Given the description of an element on the screen output the (x, y) to click on. 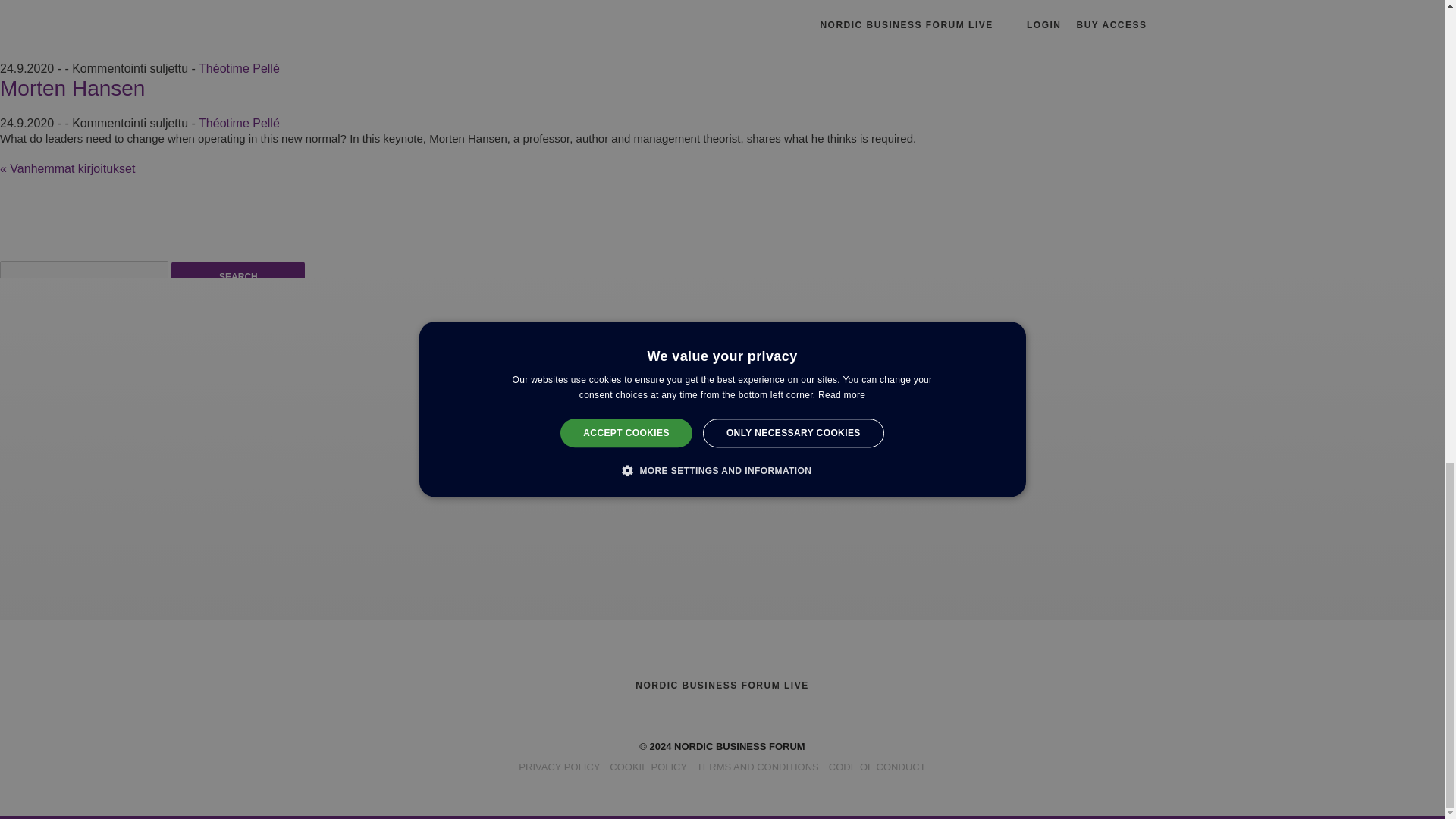
Search (237, 277)
Entries feed (32, 584)
WordPress.org (40, 612)
Video Library (574, 393)
Video Library (524, 379)
Comments feed (42, 598)
The New Normal Online Event (143, 33)
Juliet Funt - The Strategic Pause - Nordic Business Forum (156, 352)
Video Library (674, 366)
Video Library (368, 352)
Search (237, 277)
Log in (16, 571)
The New Normal Online Event (143, 33)
Video Library (606, 338)
Morten Hansen (72, 87)
